Given the description of an element on the screen output the (x, y) to click on. 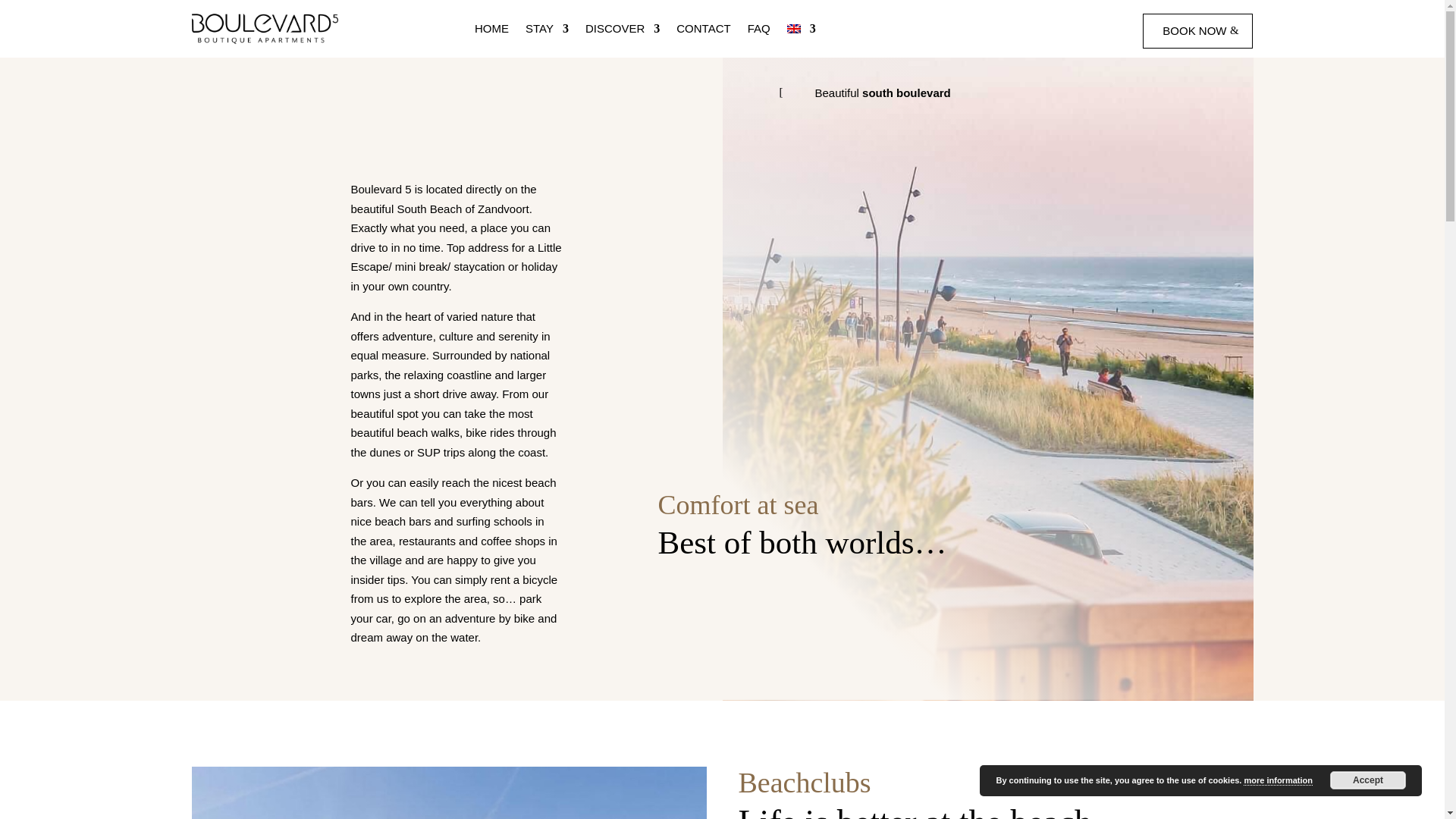
tent-6-strandtent-zandvoort-boulevard5 (448, 792)
CONTACT (703, 28)
DISCOVER (622, 28)
